Given the description of an element on the screen output the (x, y) to click on. 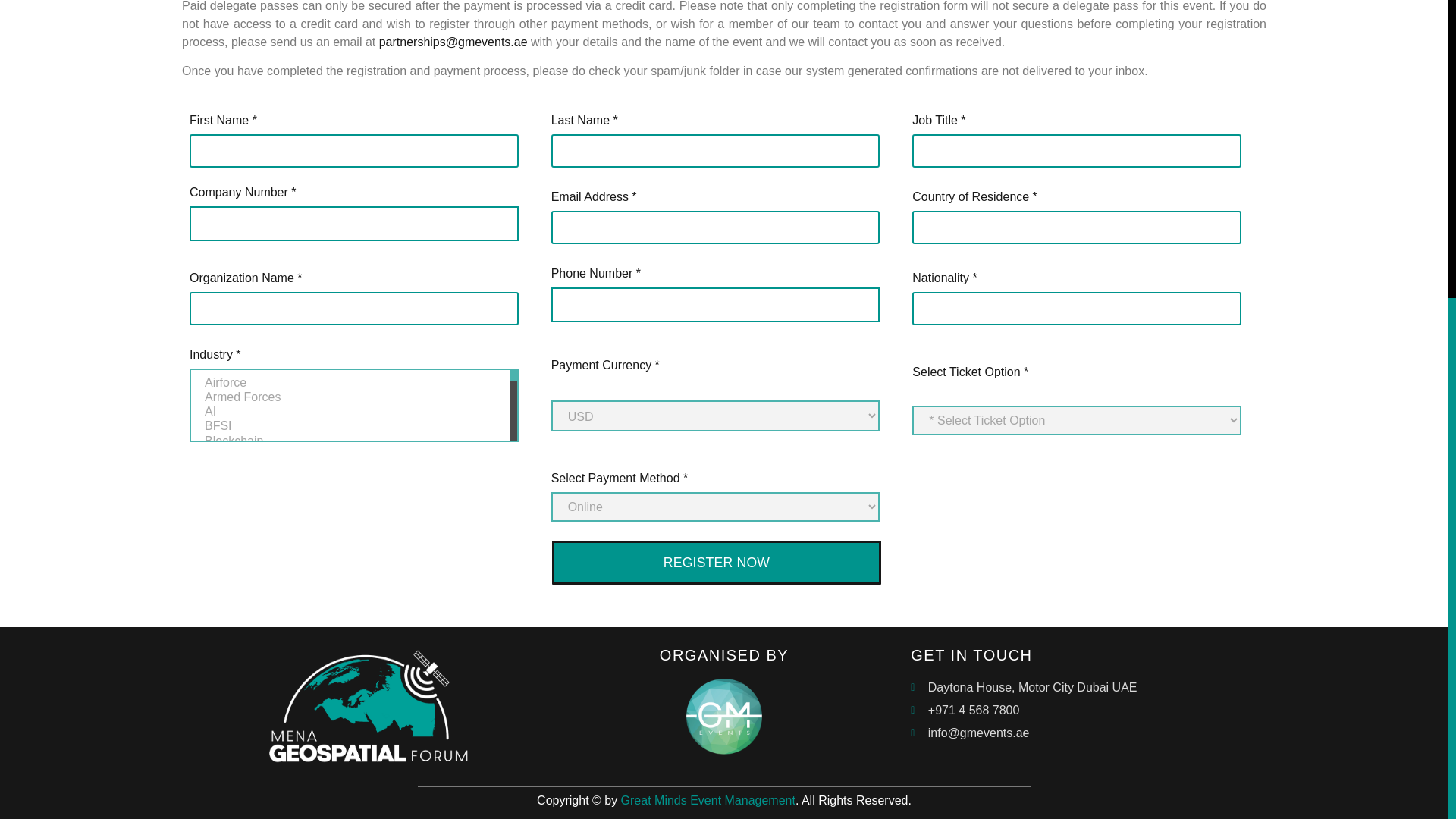
Register Now (715, 562)
Register Now (715, 562)
Great Minds Event Management (707, 799)
